Given the description of an element on the screen output the (x, y) to click on. 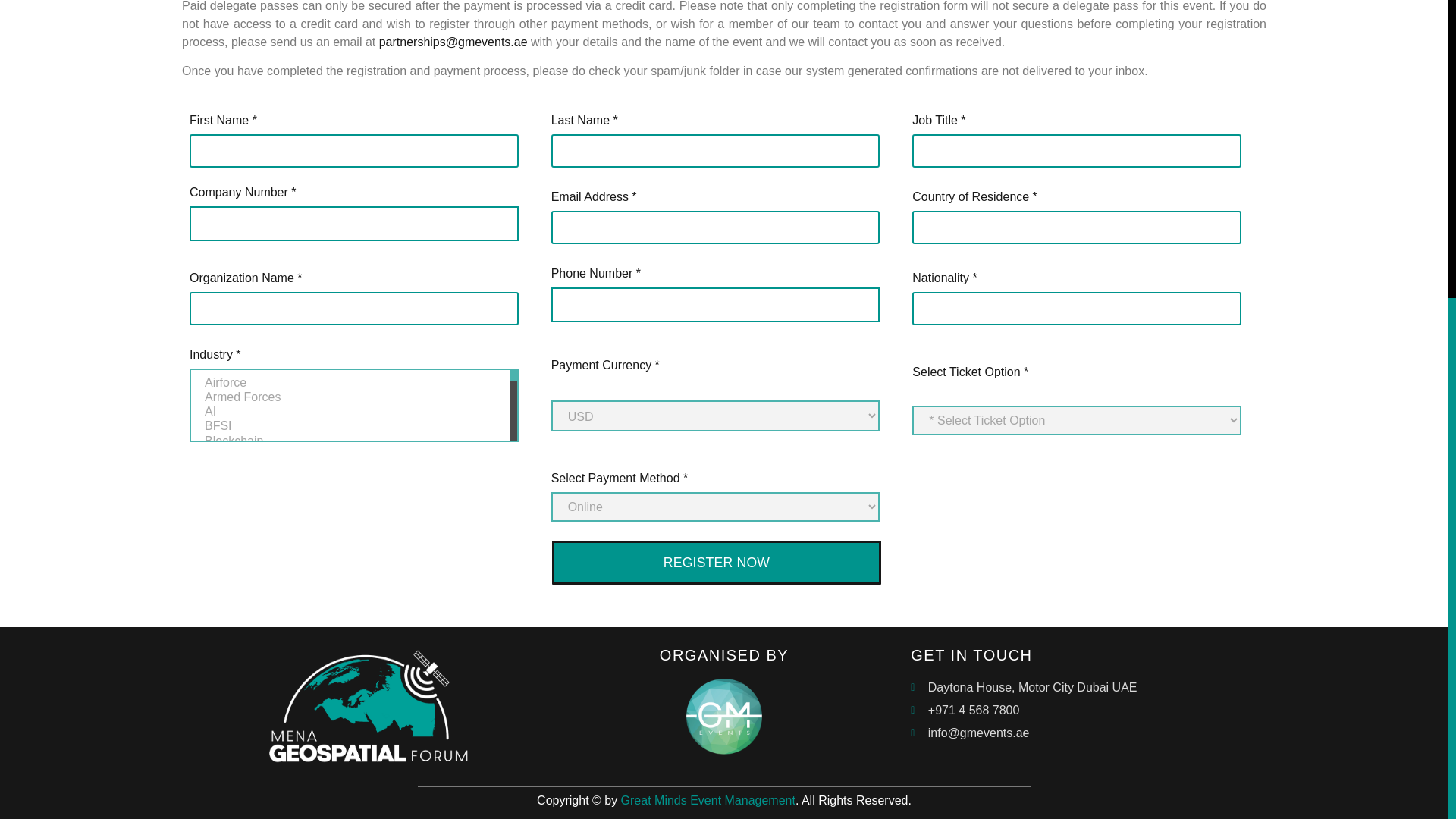
Register Now (715, 562)
Register Now (715, 562)
Great Minds Event Management (707, 799)
